Given the description of an element on the screen output the (x, y) to click on. 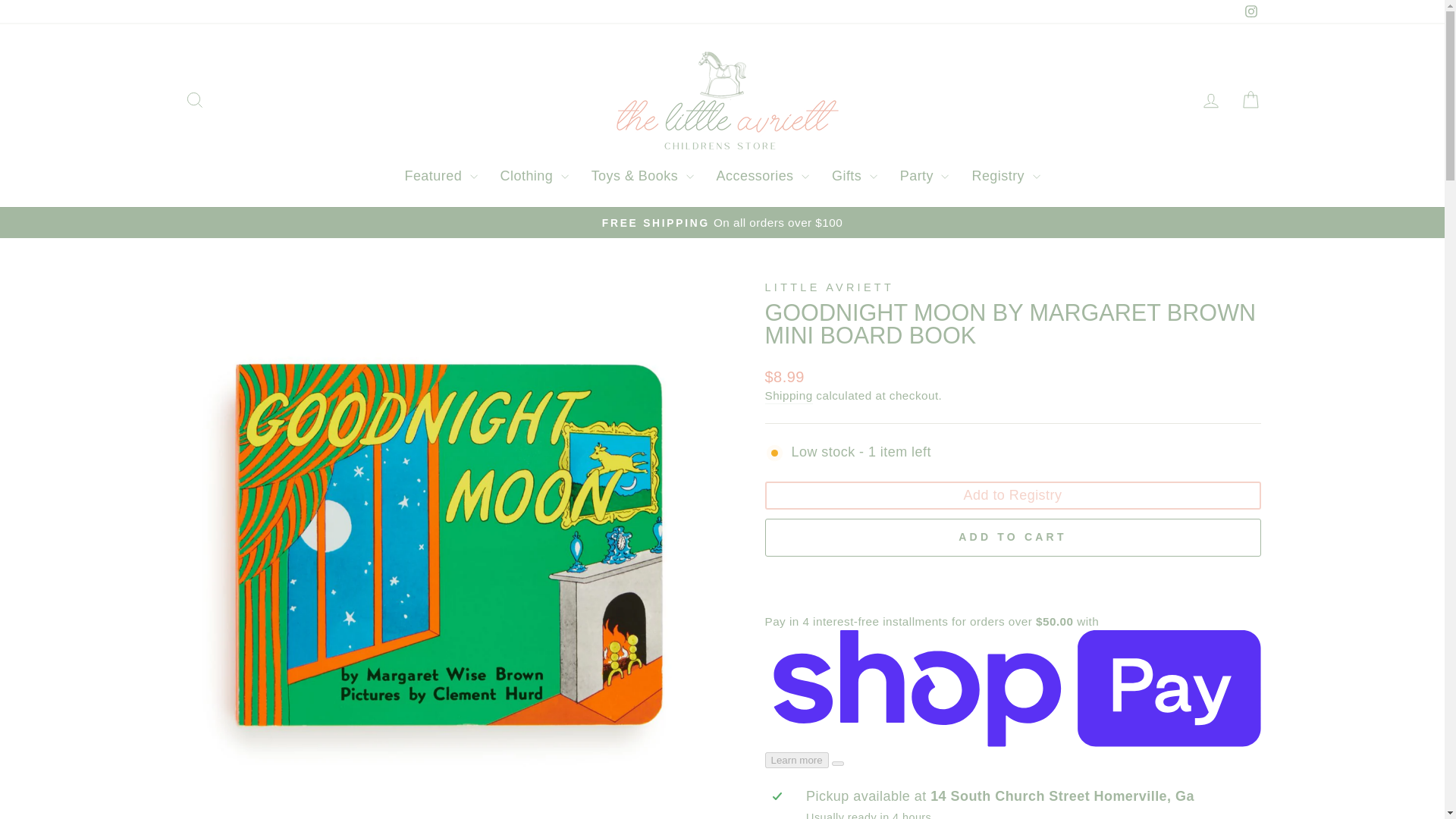
icon-search (194, 99)
instagram (1250, 10)
account (1210, 100)
Little Avriett (828, 287)
